Given the description of an element on the screen output the (x, y) to click on. 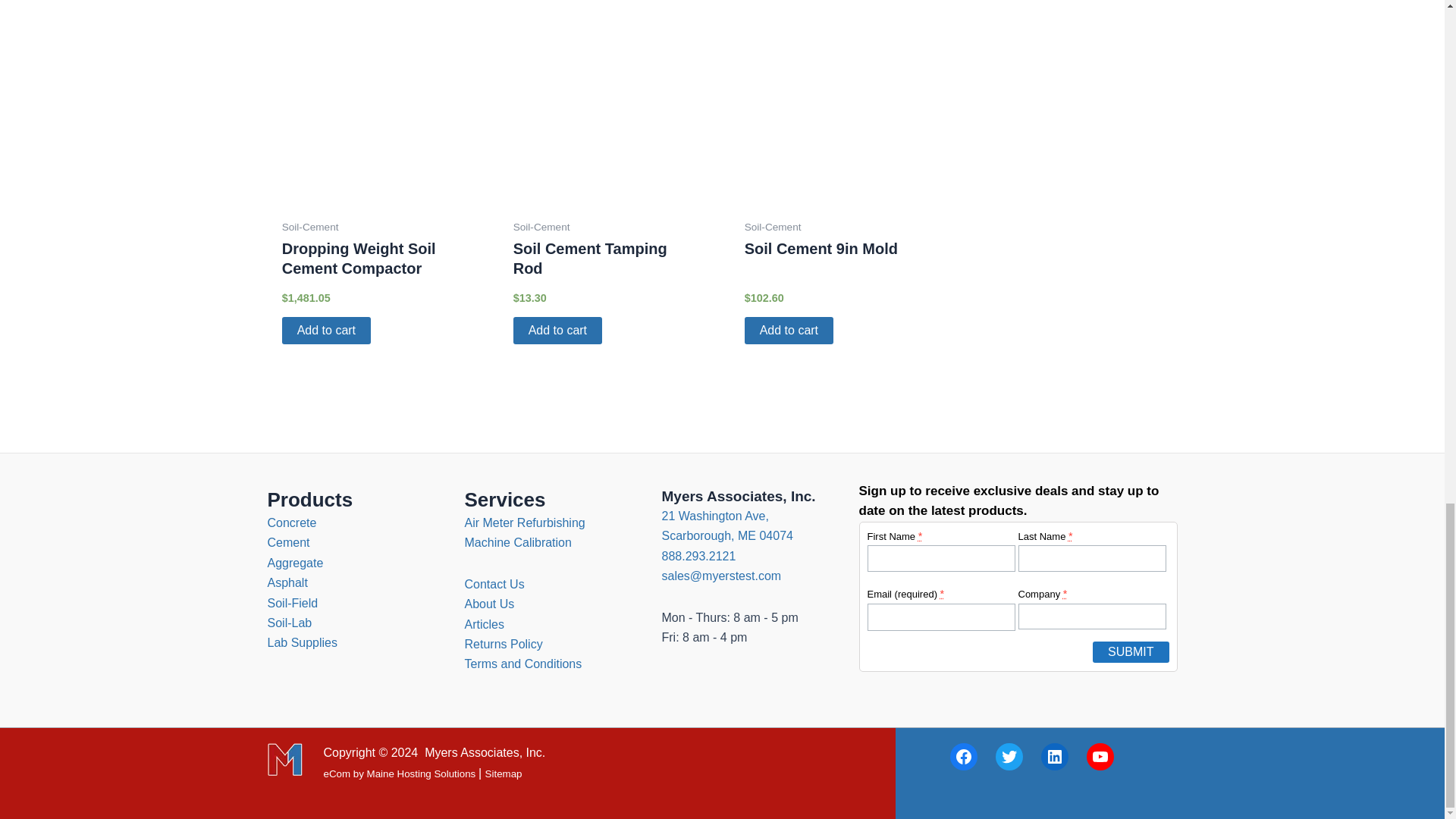
Myers Testing Equipment (285, 760)
SUBMIT (1131, 651)
